Given the description of an element on the screen output the (x, y) to click on. 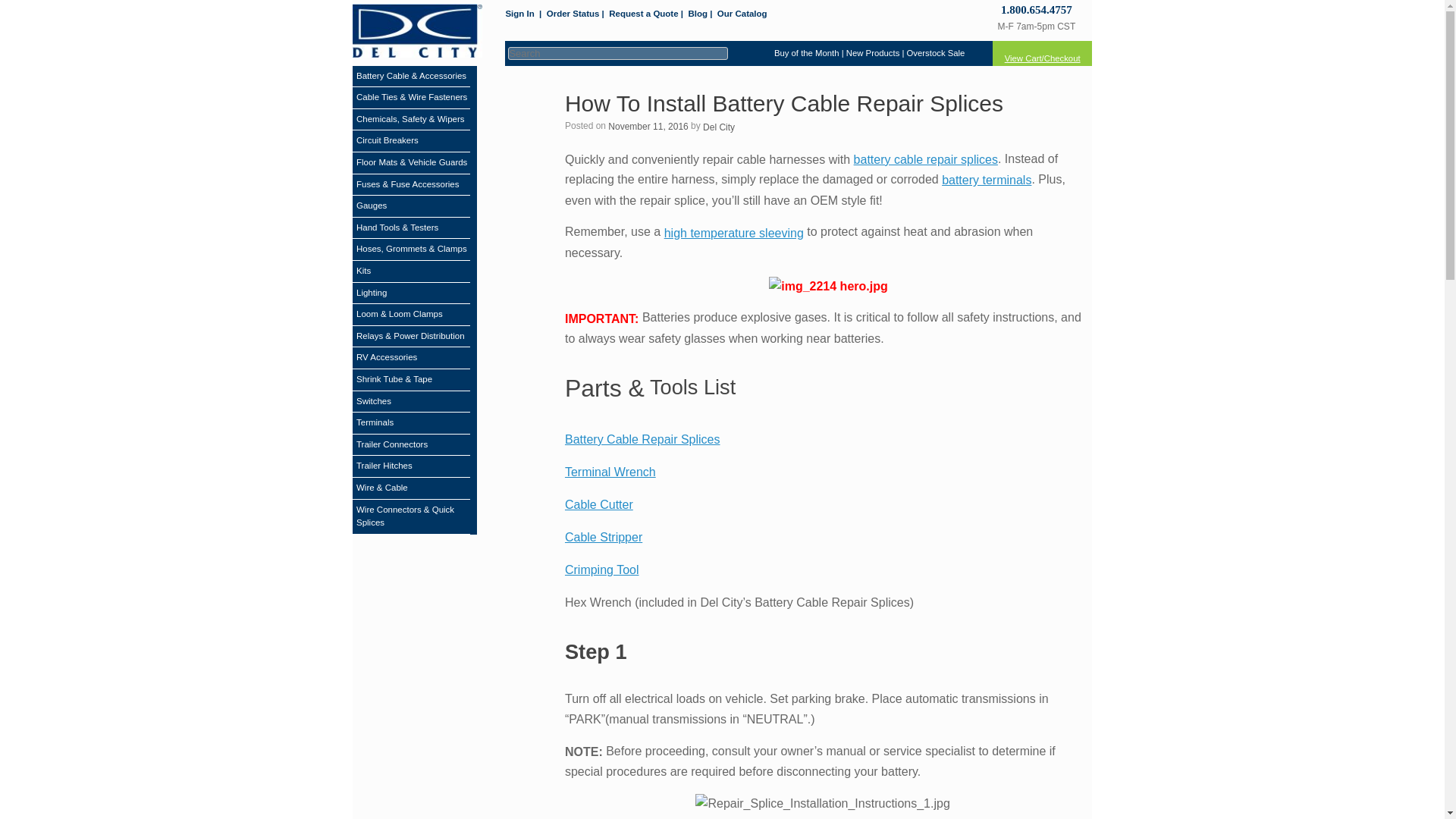
Crimping Tool (601, 569)
Order Status (573, 13)
Cable Stripper (603, 536)
Order Tracking (573, 13)
Request a Quote (643, 13)
Del City (719, 127)
10:45 am (647, 126)
Blog (697, 13)
Our Catalog (742, 13)
view shopping cart (1042, 52)
Blog (697, 13)
Cable Cutter (598, 504)
Our Catalog (742, 13)
Circuit Breakers (387, 140)
Terminal Wrench (610, 472)
